Given the description of an element on the screen output the (x, y) to click on. 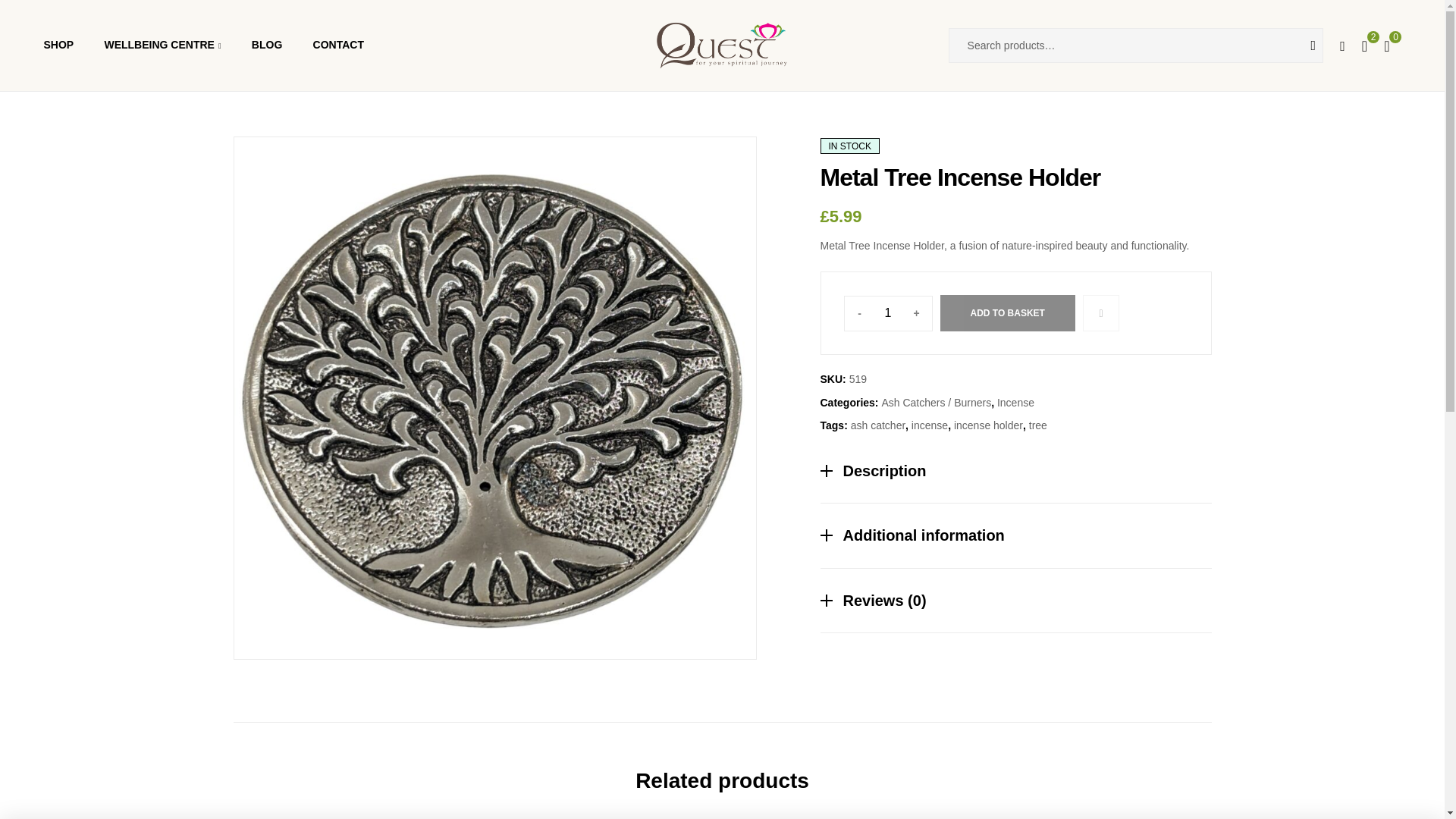
incense (929, 425)
ADD TO BASKET (1007, 312)
CONTACT (337, 45)
WELLBEING CENTRE (162, 45)
incense holder (988, 425)
BLOG (267, 45)
SHOP (58, 45)
Incense (1015, 402)
tree (1037, 425)
- (859, 313)
ash catcher (877, 425)
Search (1300, 45)
Add to wishlist (1101, 312)
